Given the description of an element on the screen output the (x, y) to click on. 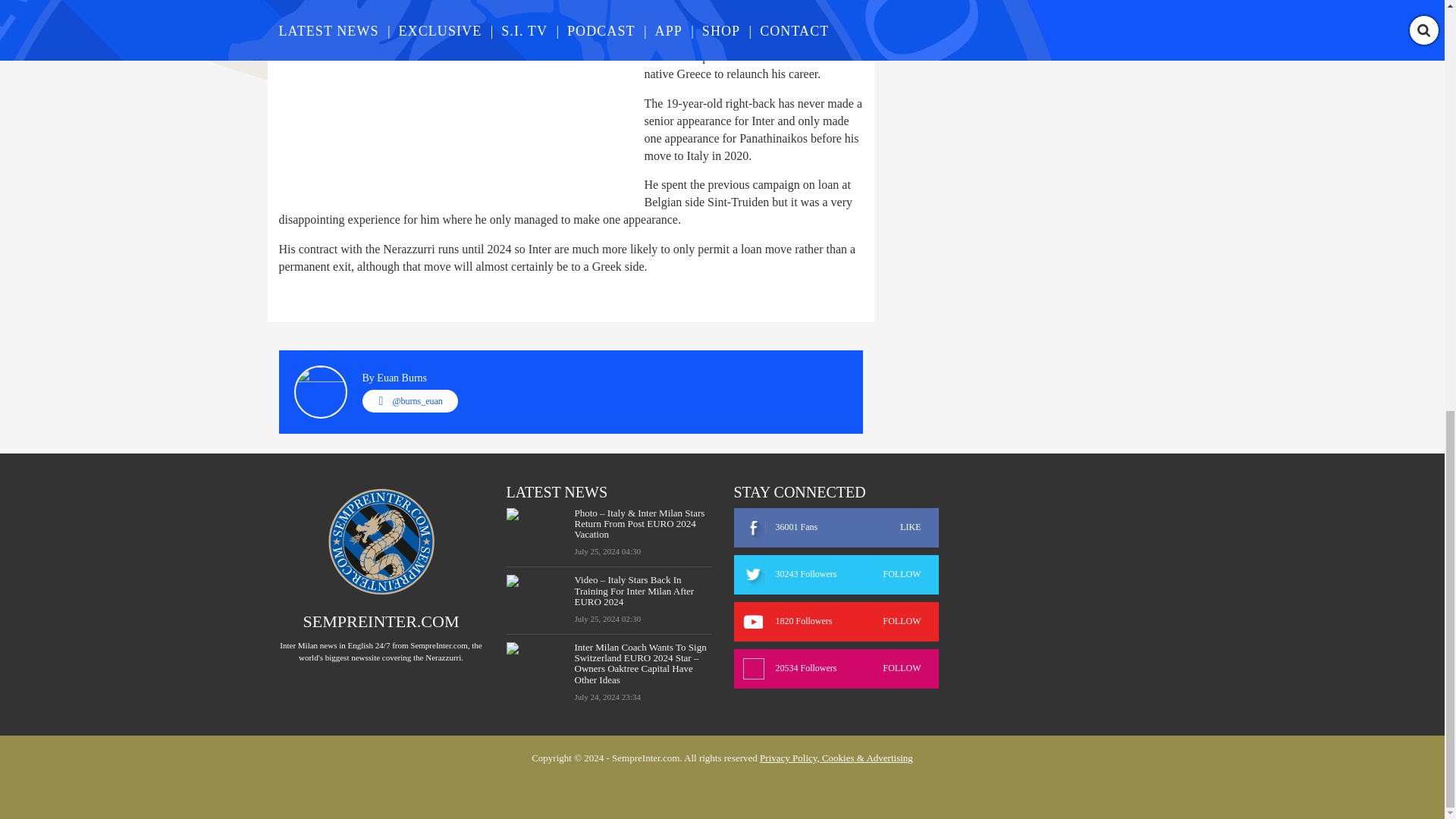
Euan Burns (401, 378)
View more articles by Euan Burns (401, 378)
FCIN1908 (791, 5)
SEMPREINTER.COM (381, 620)
